Given the description of an element on the screen output the (x, y) to click on. 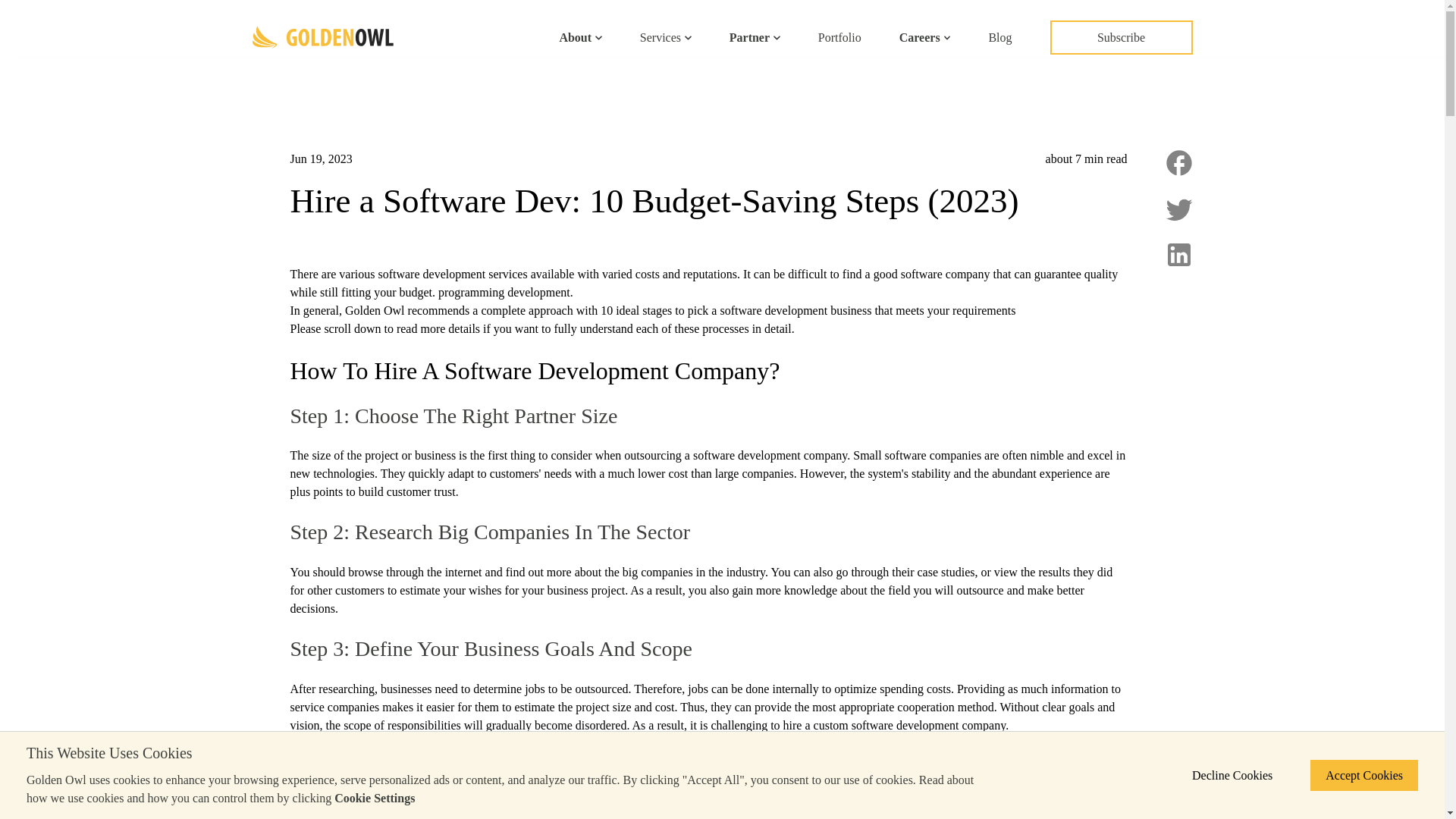
Blog (999, 37)
Services (665, 37)
Accept Cookies (1364, 775)
Portfolio (839, 37)
Decline Cookies (1231, 775)
Subscribe (1120, 37)
Cookie Settings (374, 797)
